Given the description of an element on the screen output the (x, y) to click on. 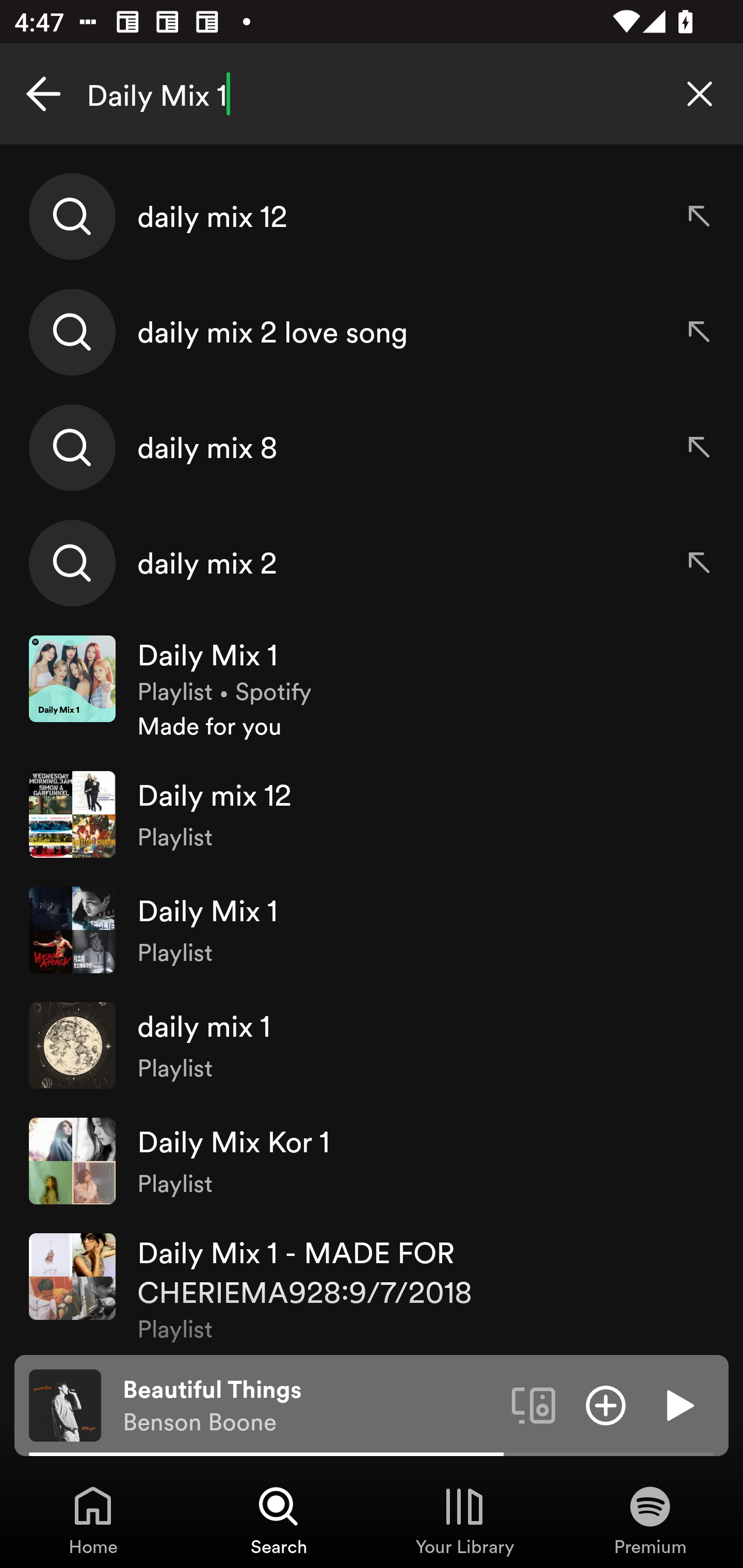
Daily Mix 1 (371, 93)
Cancel (43, 93)
Clear search query (699, 93)
daily mix 12 (371, 216)
daily mix 2 love song (371, 332)
daily mix 8 (371, 447)
daily mix 2 (371, 562)
Daily Mix 1 Playlist • Spotify Made for you (371, 688)
Daily mix 12 Playlist (371, 814)
Daily Mix 1 Playlist (371, 929)
daily mix 1 Playlist (371, 1045)
Daily Mix Kor 1 Playlist (371, 1160)
Beautiful Things Benson Boone (309, 1405)
The cover art of the currently playing track (64, 1404)
Connect to a device. Opens the devices menu (533, 1404)
Add item (605, 1404)
Play (677, 1404)
Home, Tab 1 of 4 Home Home (92, 1519)
Search, Tab 2 of 4 Search Search (278, 1519)
Your Library, Tab 3 of 4 Your Library Your Library (464, 1519)
Premium, Tab 4 of 4 Premium Premium (650, 1519)
